Given the description of an element on the screen output the (x, y) to click on. 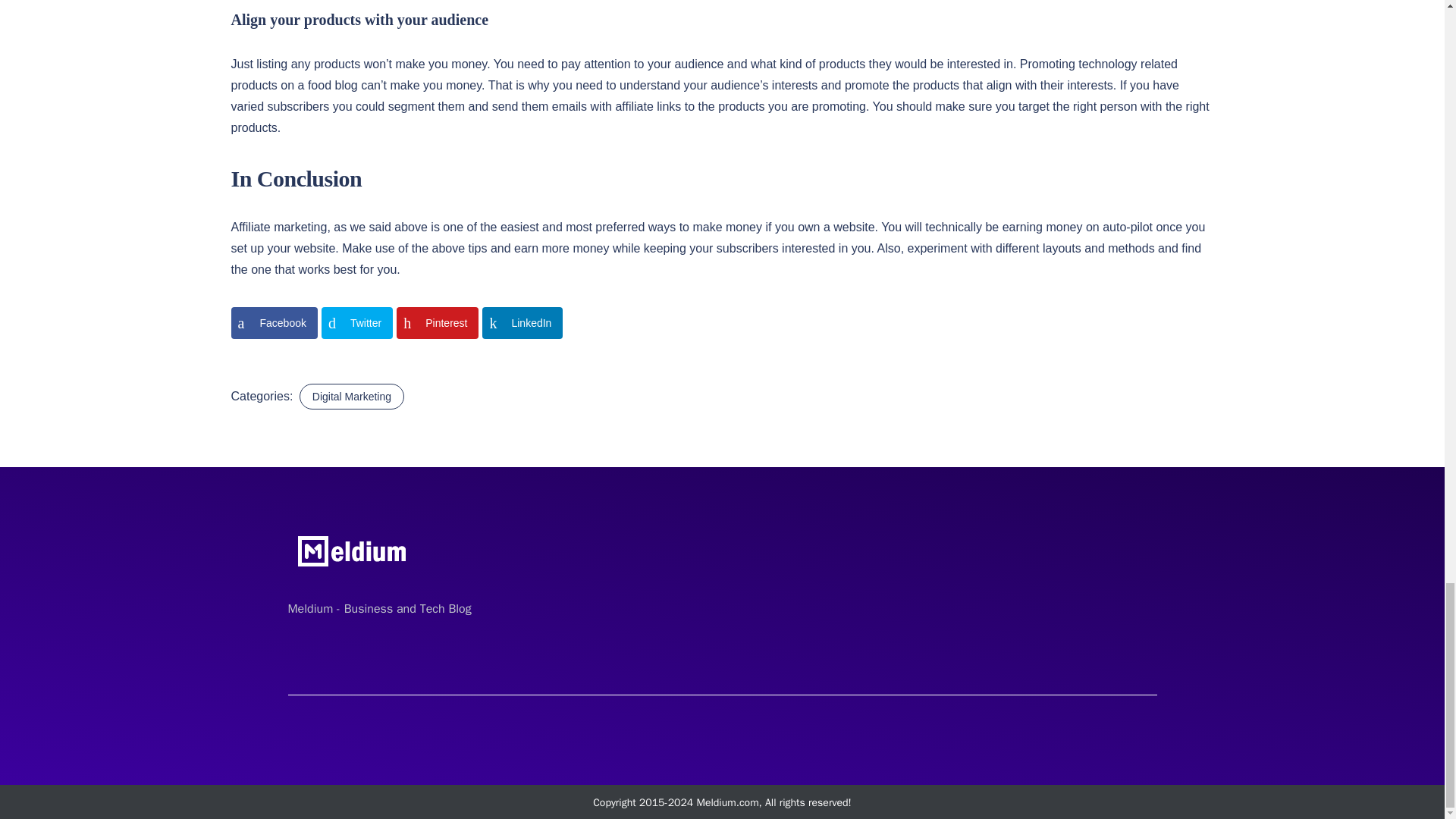
Share on Facebook (273, 323)
Share on Twitter (357, 323)
Share on LinkedIn (521, 323)
Facebook (273, 323)
Share on Pinterest (437, 323)
